Given the description of an element on the screen output the (x, y) to click on. 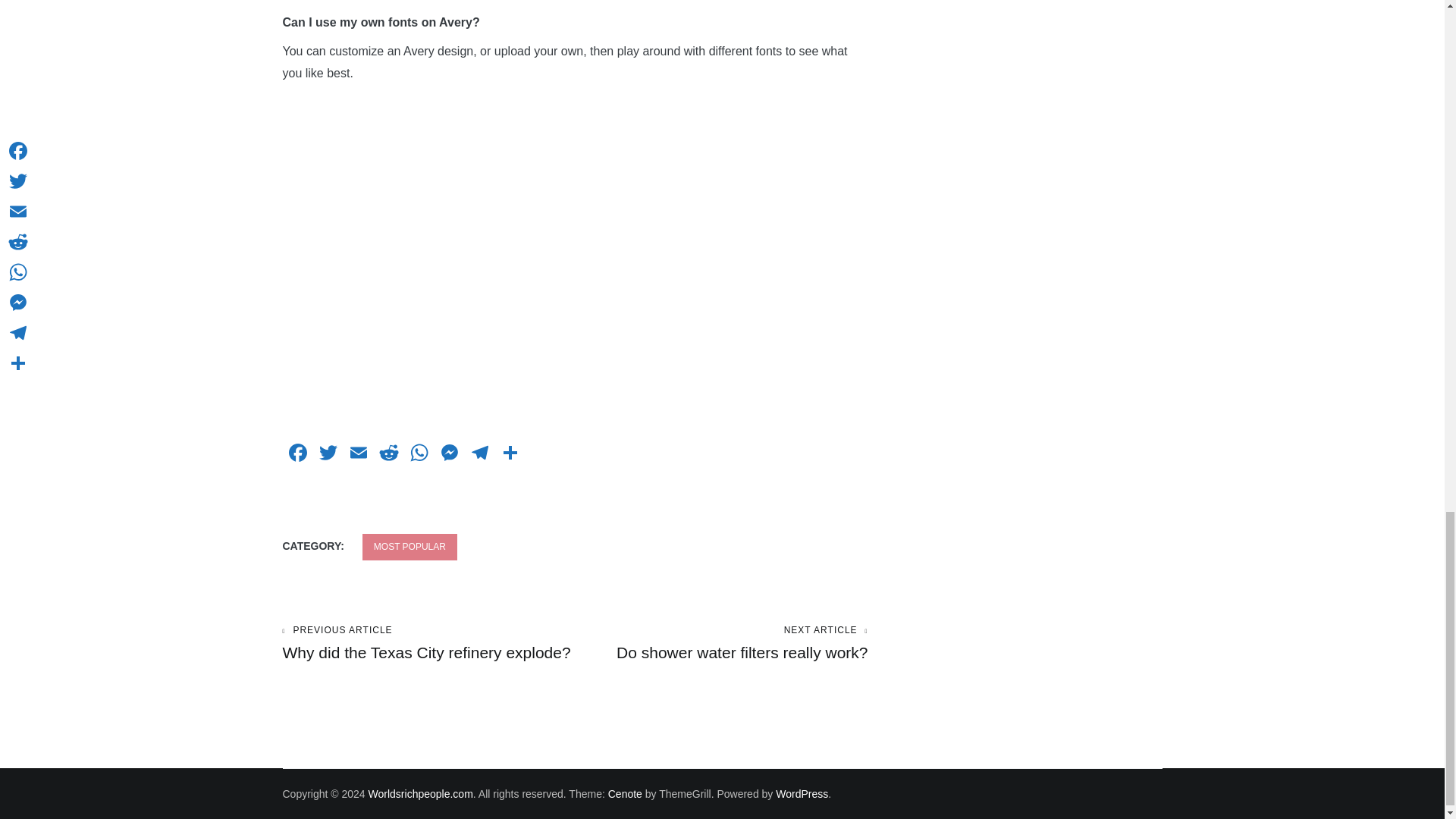
Telegram (479, 454)
Facebook (297, 454)
Email (357, 454)
Reddit (387, 454)
Facebook (297, 454)
Email (357, 454)
Messenger (448, 454)
Telegram (479, 454)
Messenger (428, 642)
Twitter (448, 454)
WhatsApp (327, 454)
WhatsApp (418, 454)
